Given the description of an element on the screen output the (x, y) to click on. 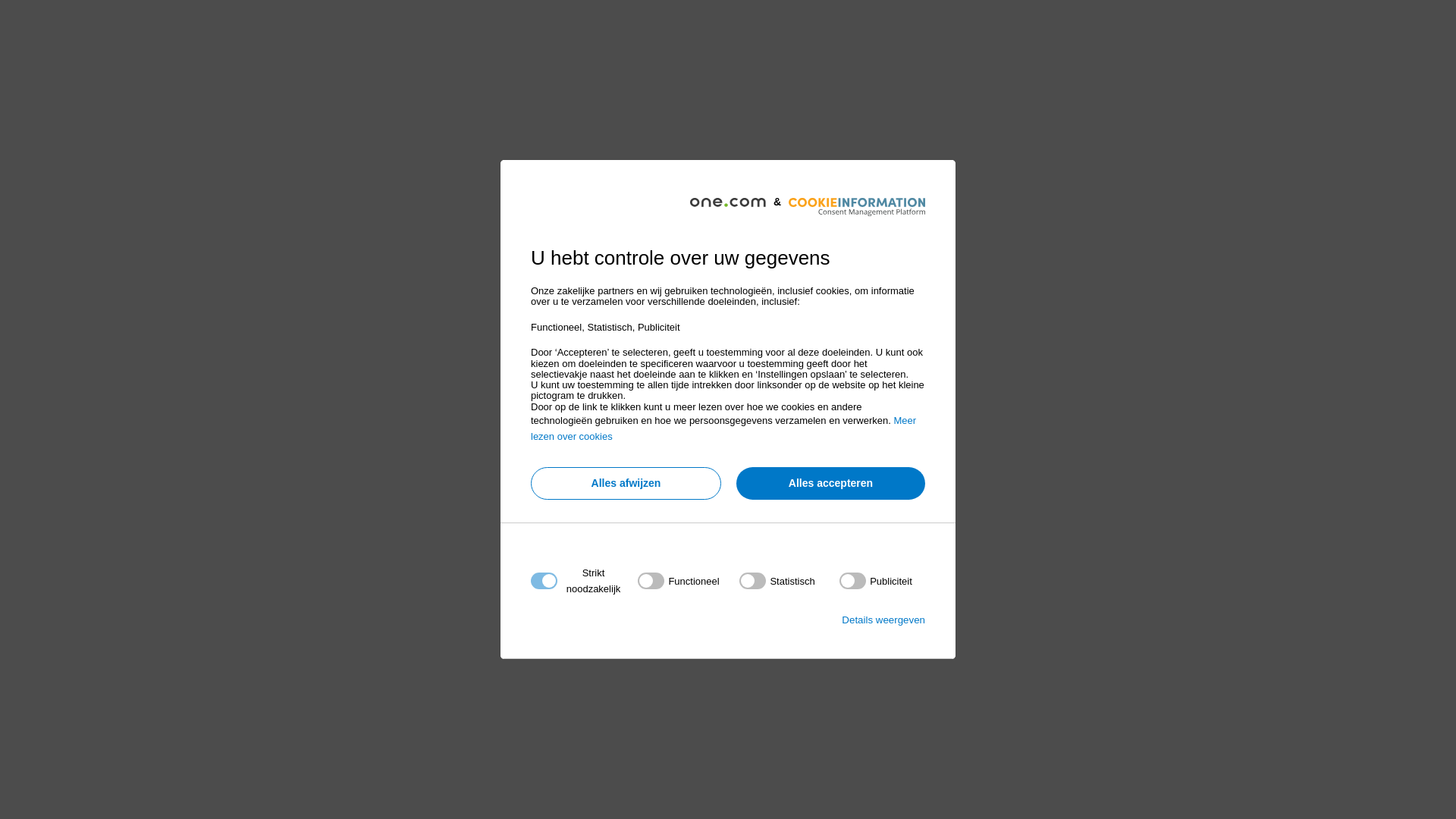
Alles afwijzen Element type: text (625, 483)
on Element type: text (875, 580)
on Element type: text (677, 580)
on Element type: text (776, 580)
Meer lezen over cookies Element type: text (723, 428)
Functioneel Element type: text (723, 763)
Strikt noodzakelijk Element type: text (723, 673)
Details weergeven Element type: text (883, 619)
Alles accepteren Element type: text (830, 483)
